Given the description of an element on the screen output the (x, y) to click on. 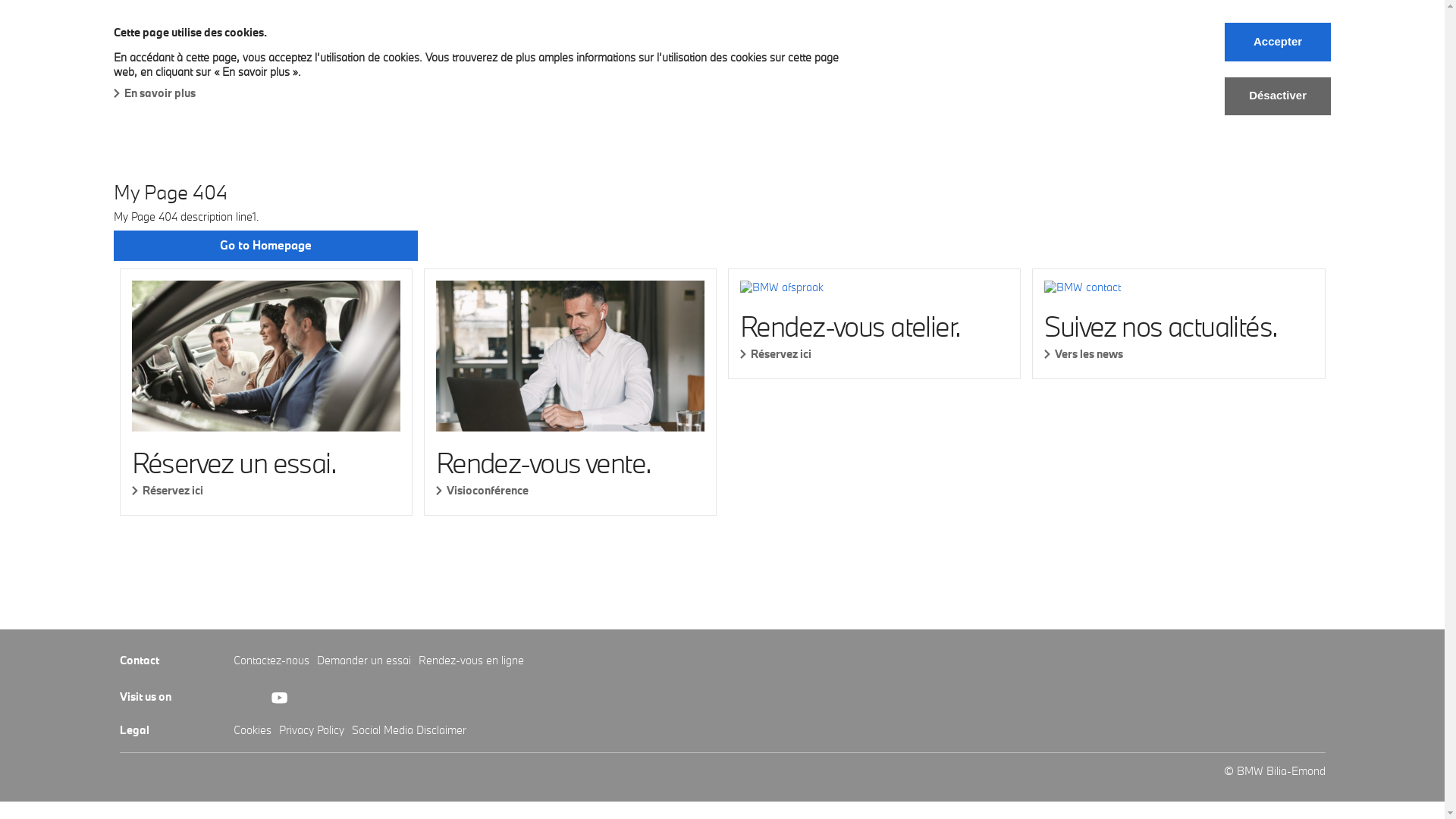
Contact Element type: text (1018, 63)
Cookies Element type: text (252, 729)
Jobs Element type: text (955, 63)
Demander un essai Element type: text (363, 659)
Skip to main content Element type: text (0, 0)
Go to Homepage Element type: text (265, 245)
En savoir plus Element type: text (154, 92)
BMW Financial Services Element type: text (551, 63)
Rendez-vous en ligne Element type: text (471, 659)
Accepter Element type: text (1277, 41)
Social Media Disclaimer Element type: text (408, 729)
Privacy Policy Element type: text (311, 729)
Contactez-nous Element type: text (271, 659)
Bilia-Emond Racing Element type: text (859, 63)
BMW Bilia-Emond Element type: text (166, 31)
Vers les news Element type: text (1178, 353)
News Element type: text (759, 63)
